Given the description of an element on the screen output the (x, y) to click on. 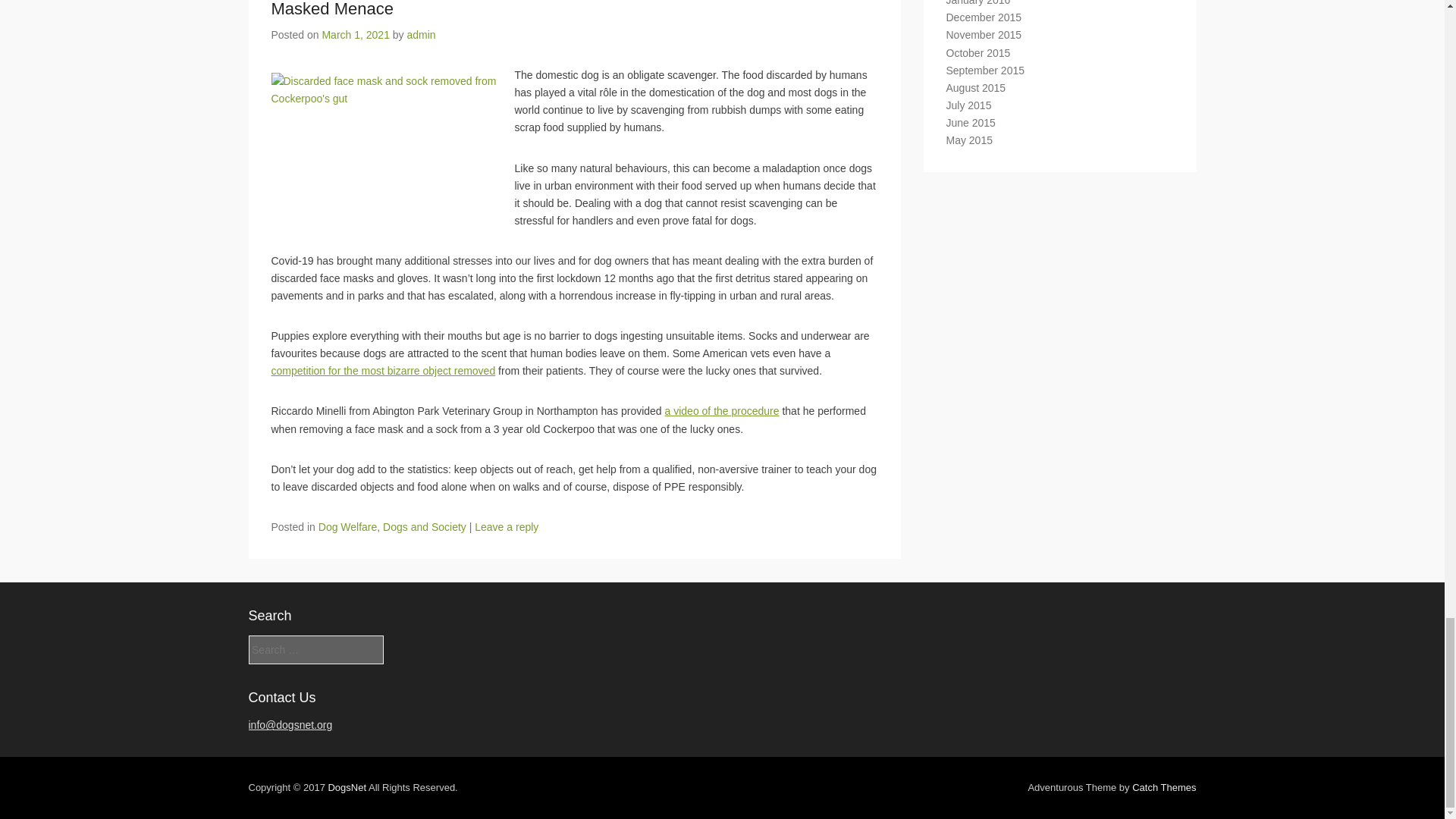
13:55 (355, 34)
View all posts by admin (421, 34)
Permalink to Masked Menace (331, 9)
